Given the description of an element on the screen output the (x, y) to click on. 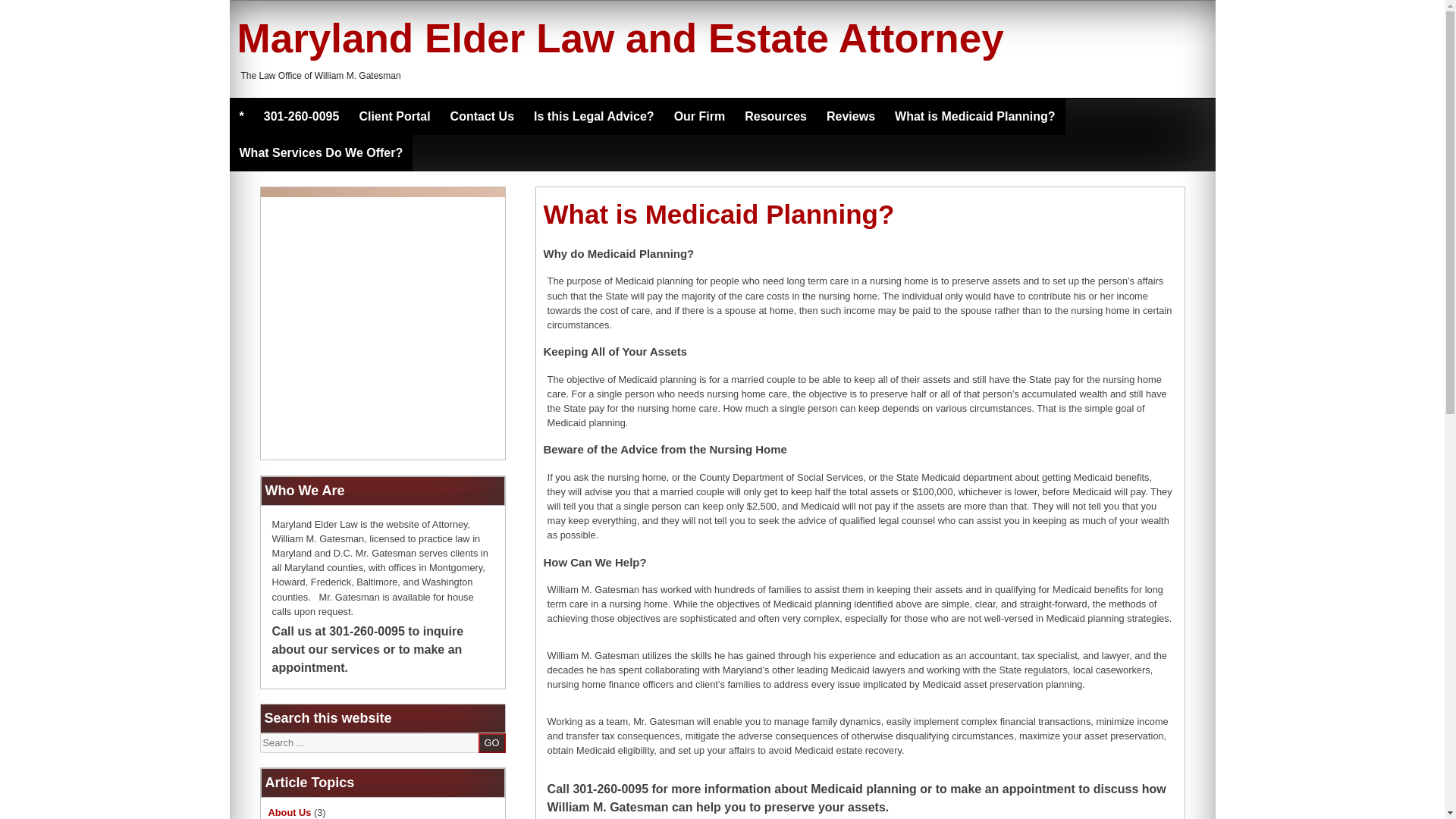
Client Portal (394, 116)
301-260-0095 (301, 116)
Maryland Elder Law and Estate Attorney (619, 37)
Is this Legal Advice? (593, 116)
Our Firm (699, 116)
What is Medicaid Planning? (975, 116)
GO (492, 742)
Resources (775, 116)
What Services Do We Offer? (320, 153)
About Us (289, 812)
Contact Us (482, 116)
GO (492, 742)
Reviews (850, 116)
GO (492, 742)
